Given the description of an element on the screen output the (x, y) to click on. 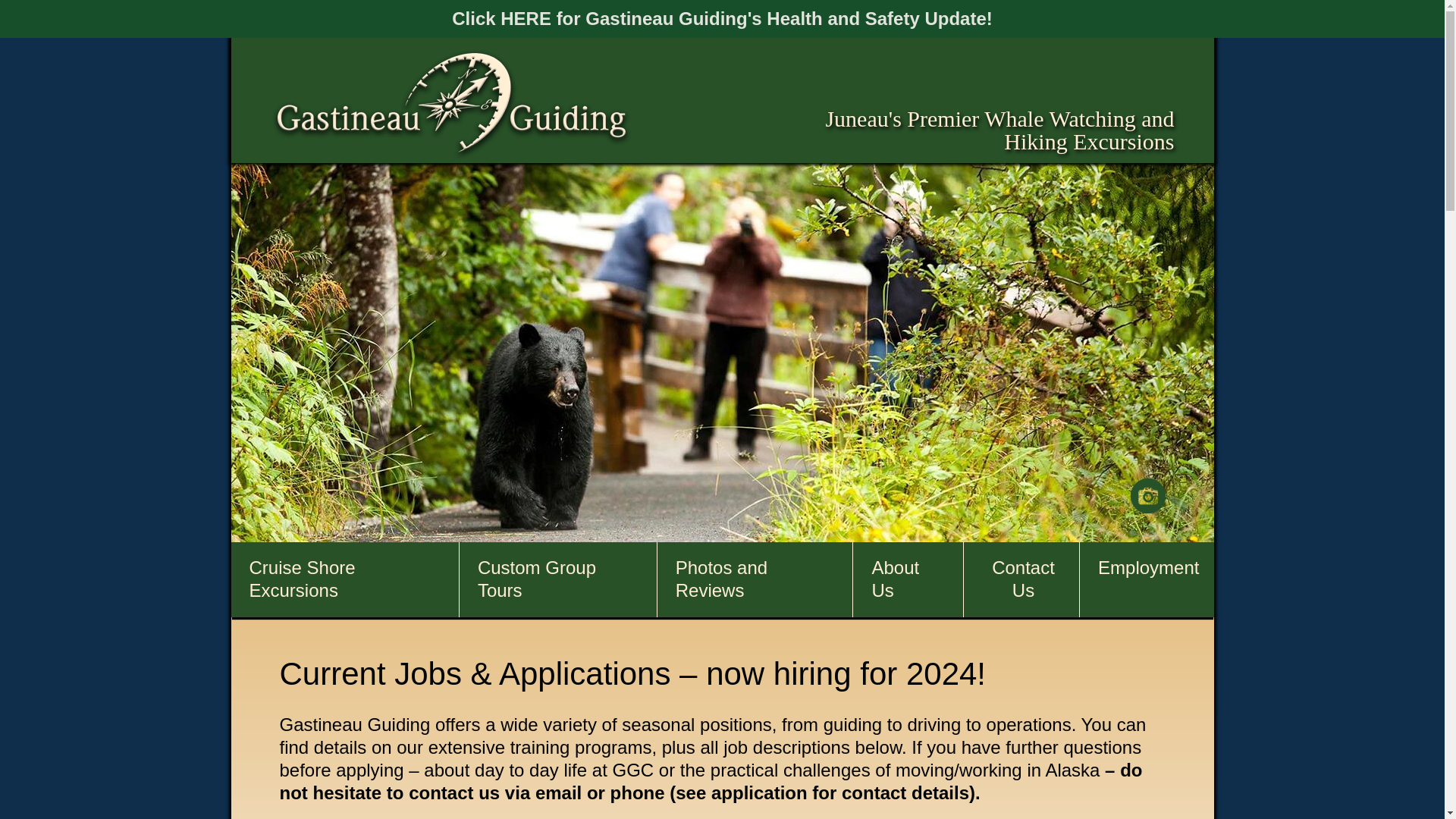
Photos and Reviews (757, 579)
About Us (909, 579)
Gastineau Guiding (450, 104)
Cruise Shore Excursions (345, 579)
Employment (1148, 568)
Custom Group Tours (560, 579)
Contact Us (1023, 579)
Click HERE for Gastineau Guiding's Health and Safety Update! (721, 18)
